Given the description of an element on the screen output the (x, y) to click on. 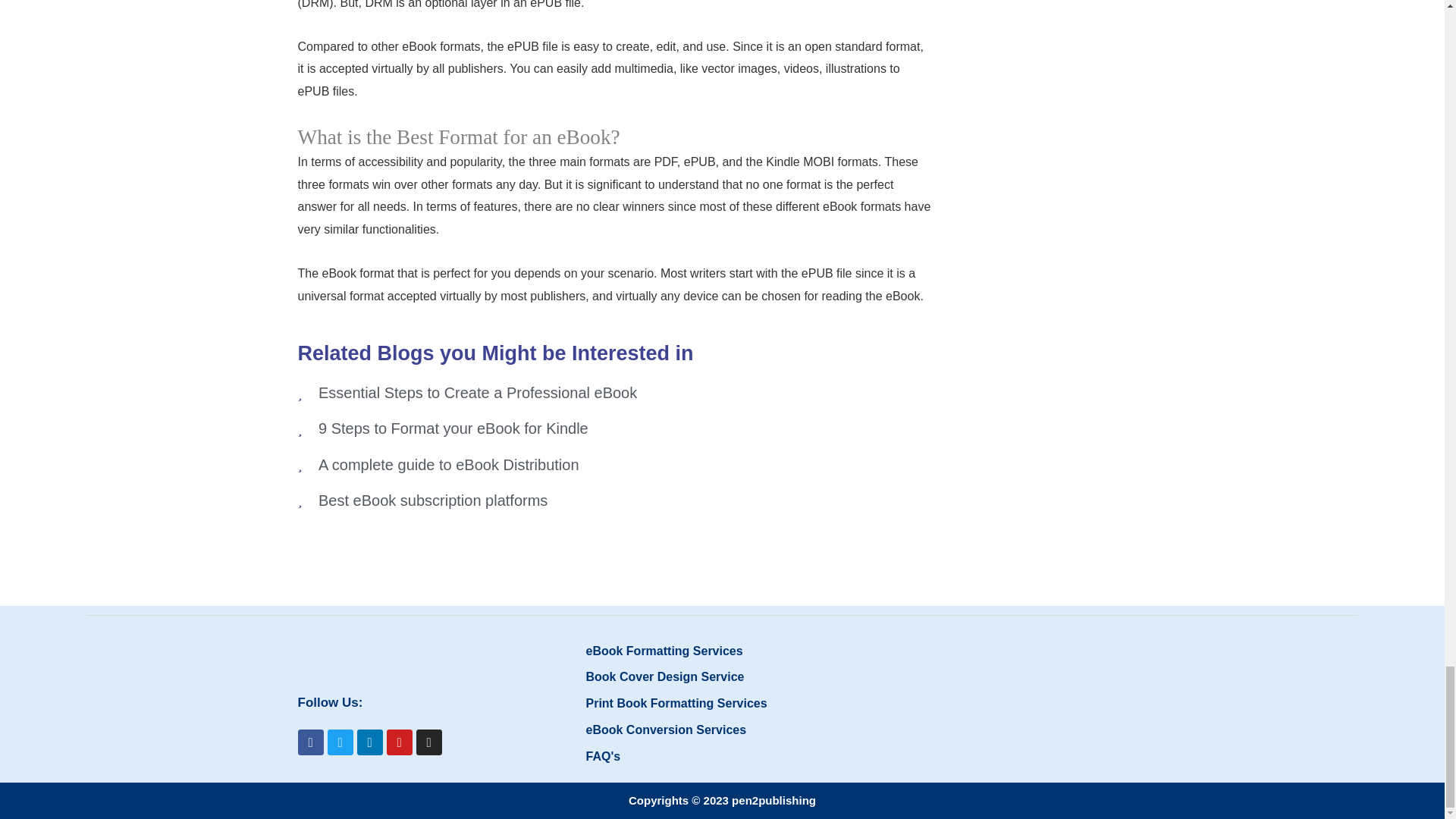
Essential Steps to Create a Professional eBook (613, 393)
eBook Formatting Services (722, 650)
9 Steps to Format your eBook for Kindle (613, 428)
Print Book Formatting Services (722, 703)
A complete guide to eBook Distribution (613, 465)
FAQ's (722, 756)
Best eBook subscription platforms (613, 500)
Book Cover Design Service (722, 676)
eBook Conversion Services (722, 730)
